Given the description of an element on the screen output the (x, y) to click on. 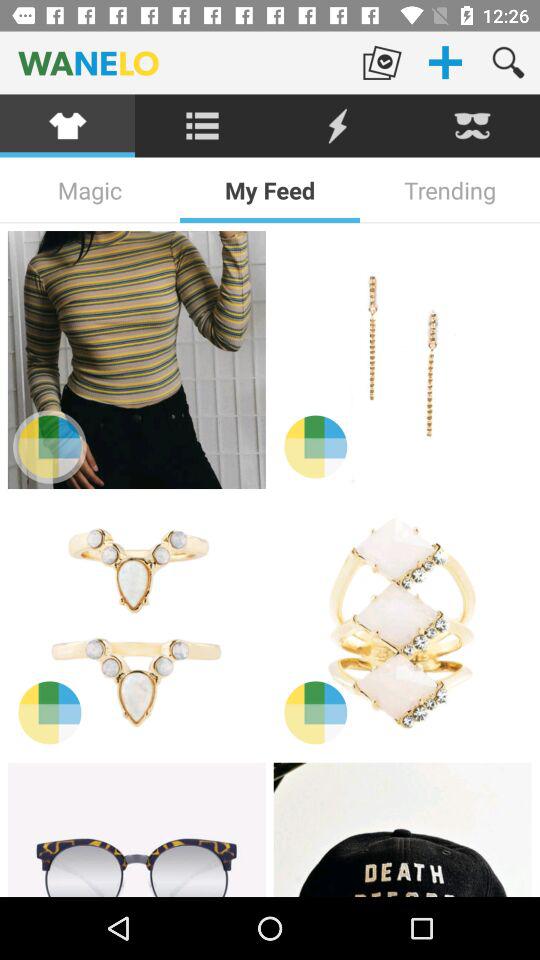
change color (49, 446)
